Given the description of an element on the screen output the (x, y) to click on. 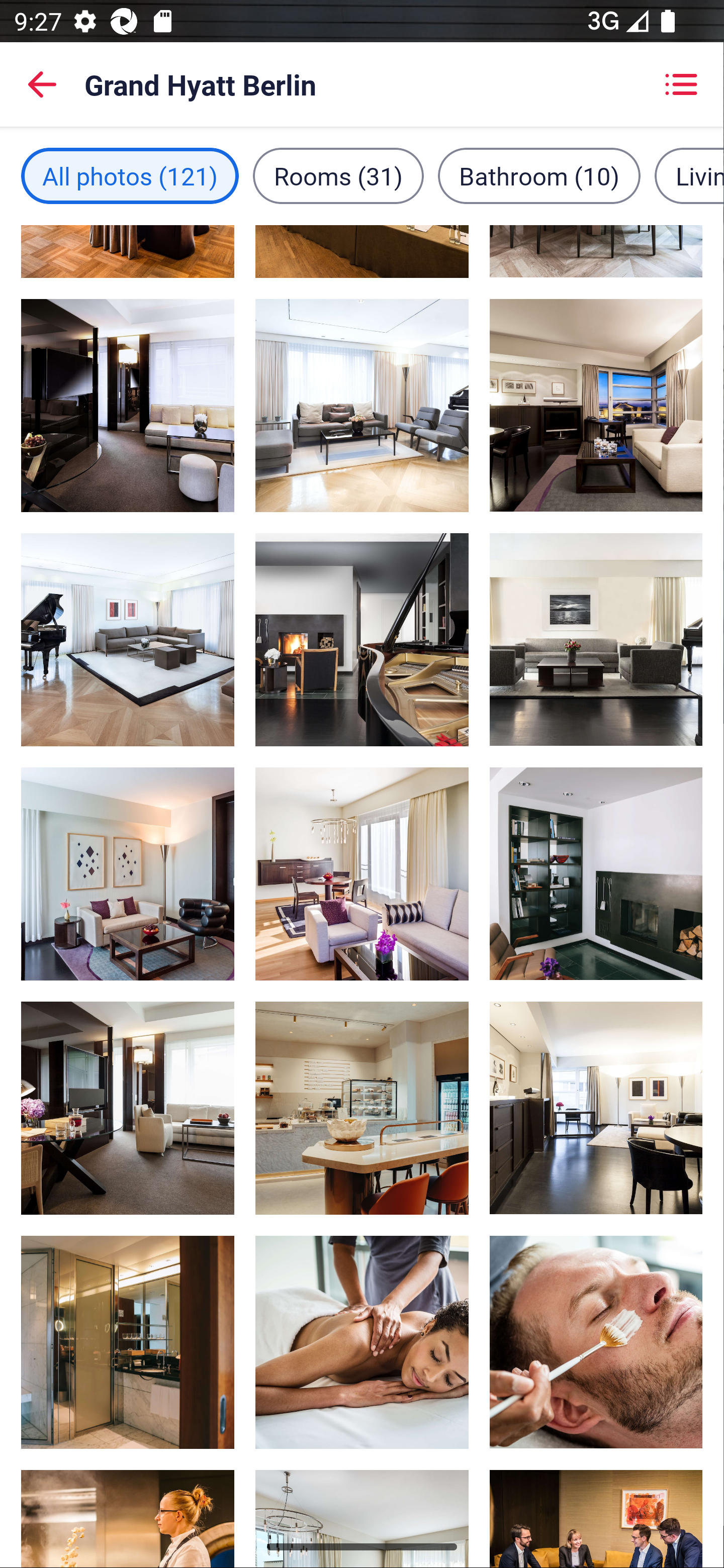
Back (42, 84)
Showing grid view (681, 84)
All photos filter, 121 images (129, 175)
Rooms filter, 31 images (337, 175)
Bathroom filter, 10 images (539, 175)
Living area filter, 12 images (688, 175)
2 restaurants, Asian cuisine, image (361, 1108)
